Given the description of an element on the screen output the (x, y) to click on. 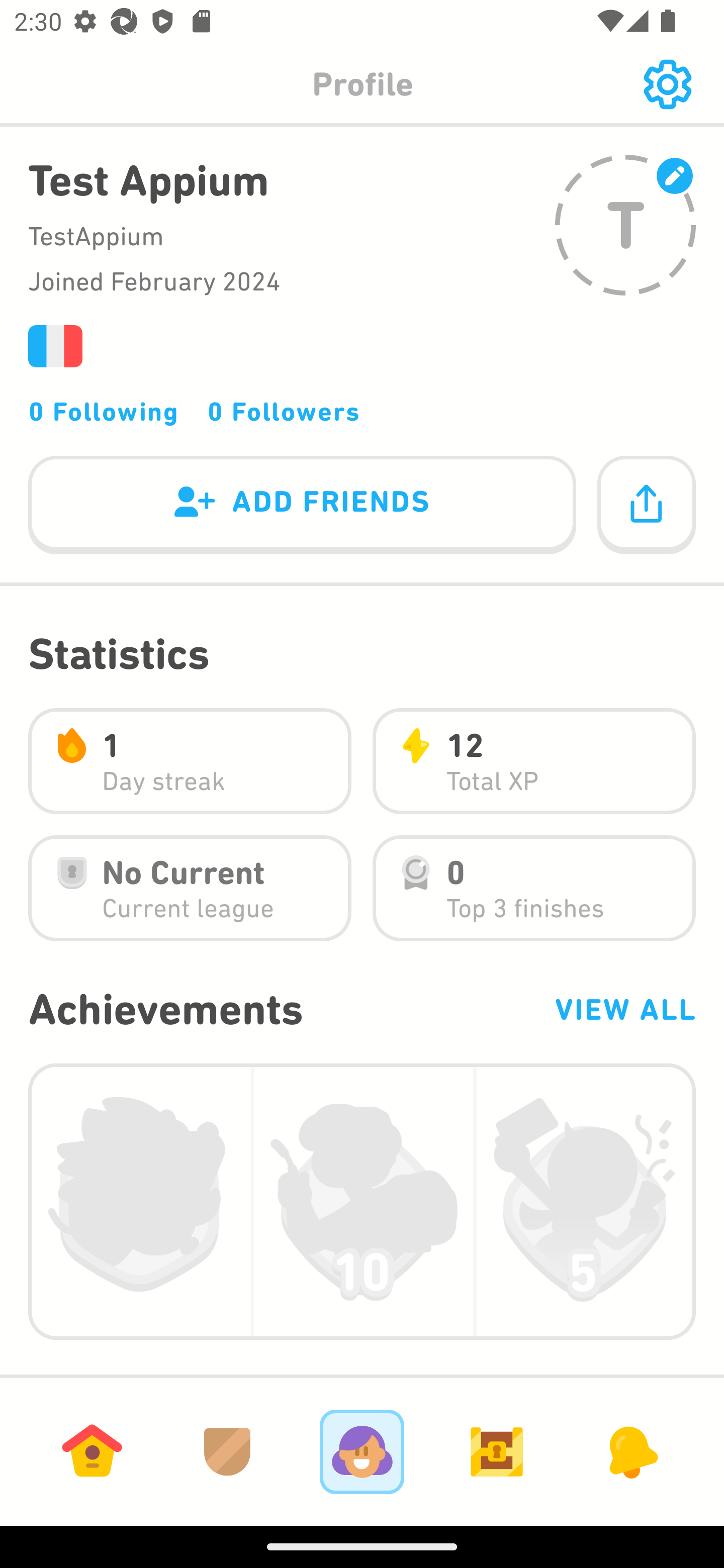
Settings (667, 84)
0 Following (103, 411)
0 Followers (283, 411)
ADD FRIENDS (302, 505)
1 Day streak (189, 760)
VIEW ALL (624, 1009)
Learn Tab (91, 1451)
Leagues Tab (227, 1451)
Profile Tab (361, 1451)
Goals Tab (496, 1451)
News Tab (631, 1451)
